Given the description of an element on the screen output the (x, y) to click on. 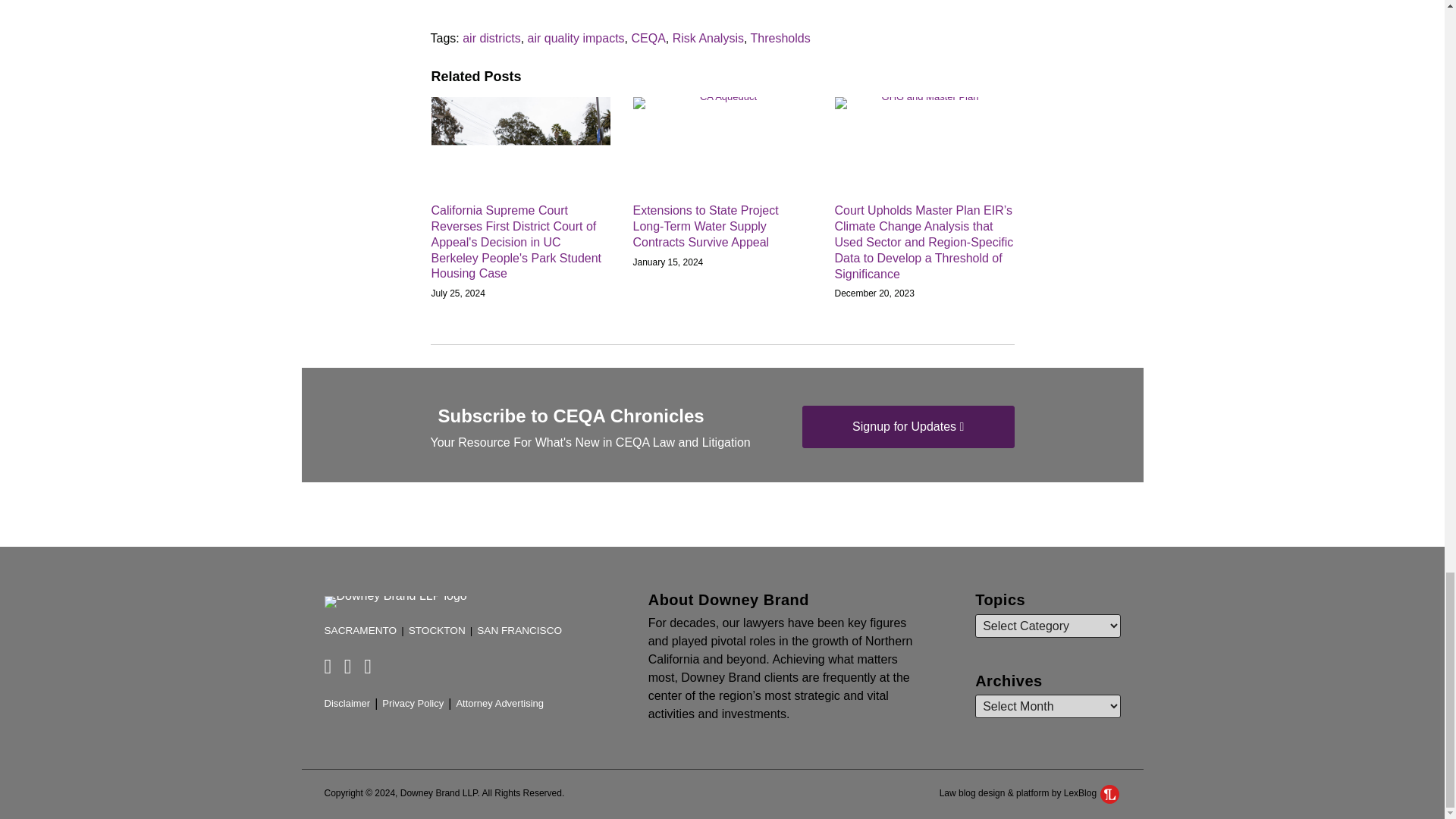
Risk Analysis (708, 38)
CEQA (647, 38)
air quality impacts (575, 38)
LexBlog Logo (1109, 793)
air districts (491, 38)
Thresholds (780, 38)
